Given the description of an element on the screen output the (x, y) to click on. 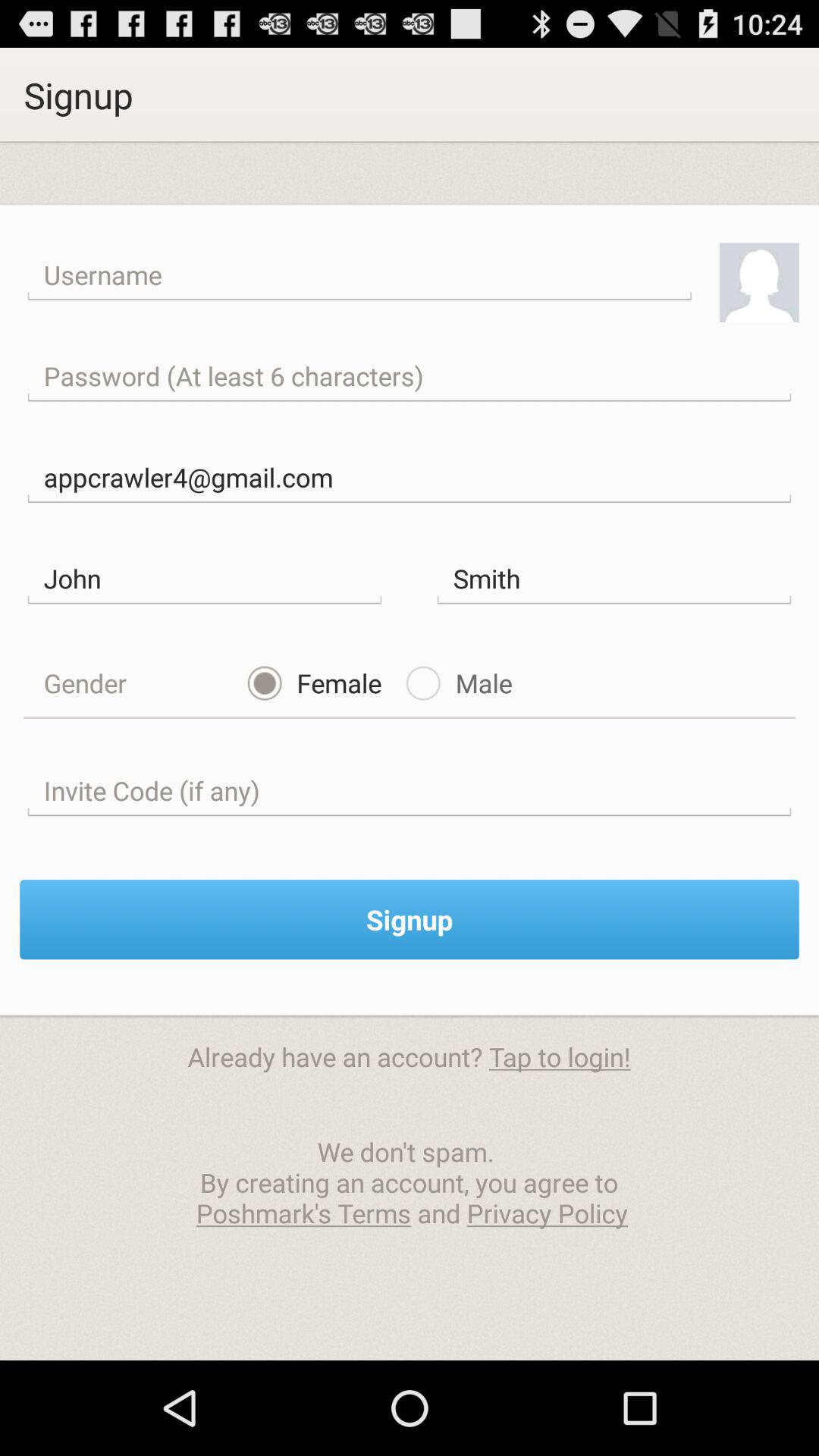
enter your username here (359, 275)
